Given the description of an element on the screen output the (x, y) to click on. 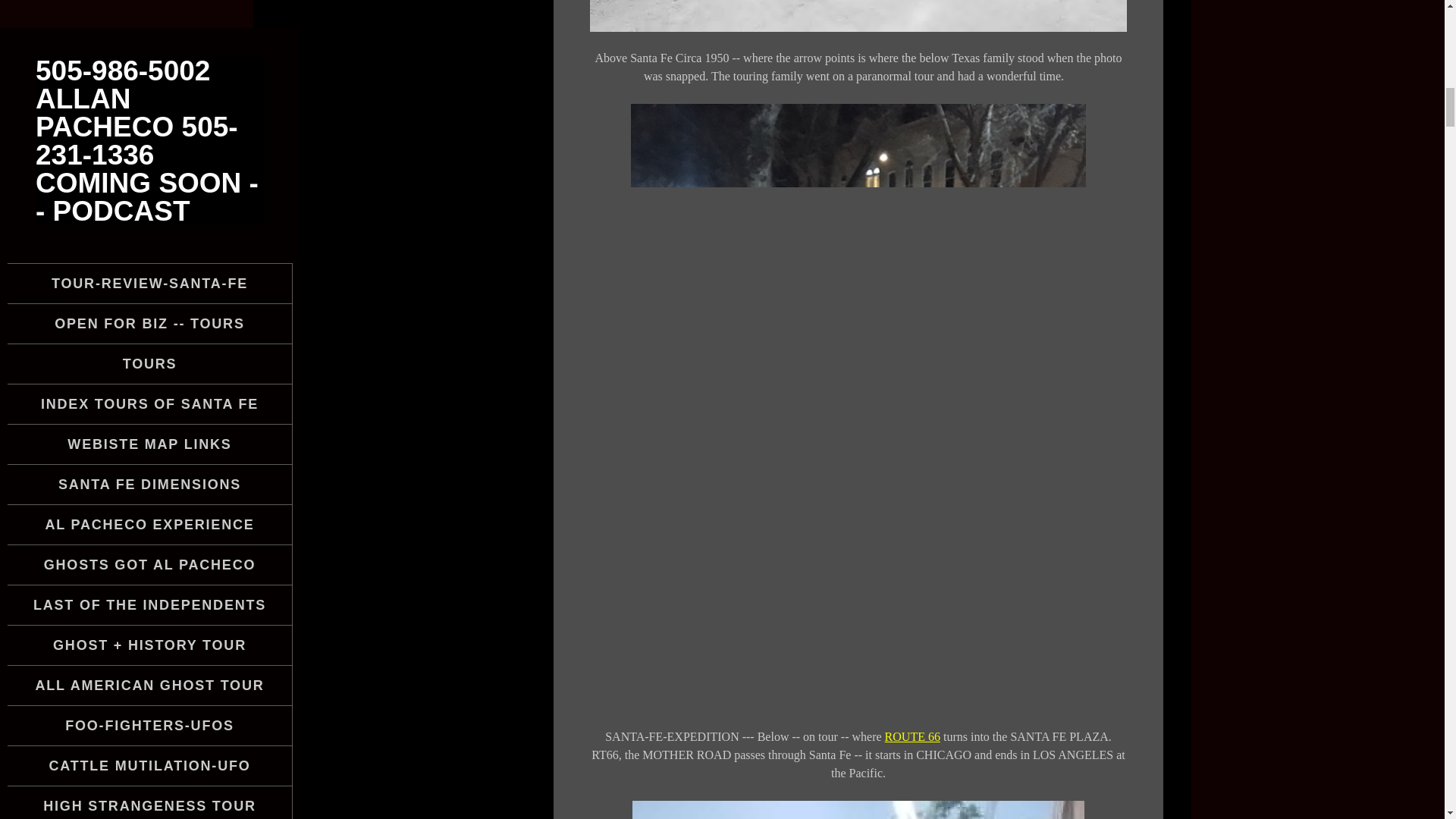
GHOST TOUR SANTA FE (149, 172)
ROUTE66CLRNER DAYTIME (857, 809)
PLAZA SNOW 1930S ARROW (857, 15)
COVID-19 GHOST TOUR (149, 132)
GHOST STORY TOUR (149, 212)
